Given the description of an element on the screen output the (x, y) to click on. 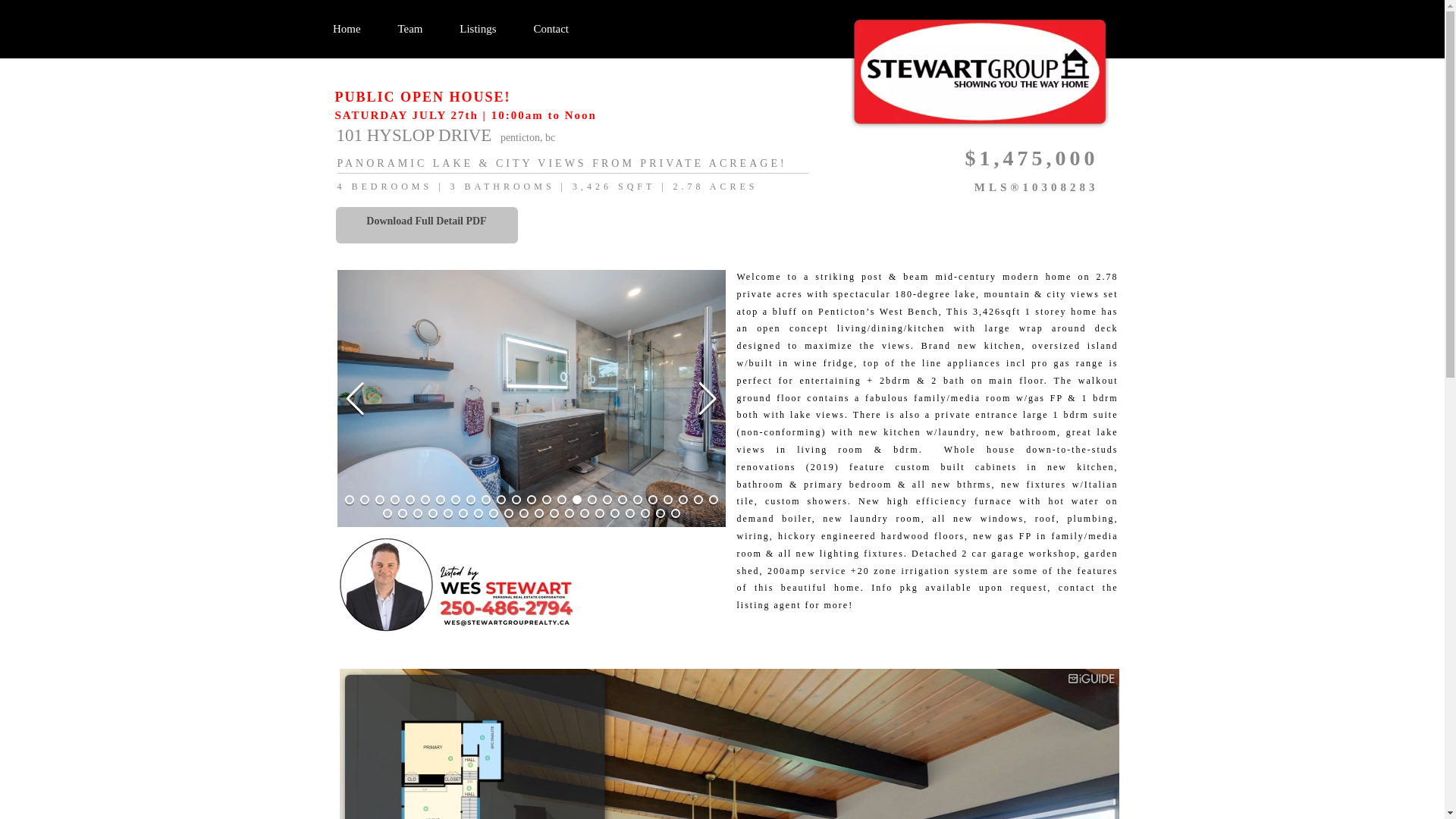
Home (346, 28)
Listings (478, 28)
Contact (551, 28)
Download Full Detail PDF (425, 225)
Team (409, 28)
